Given the description of an element on the screen output the (x, y) to click on. 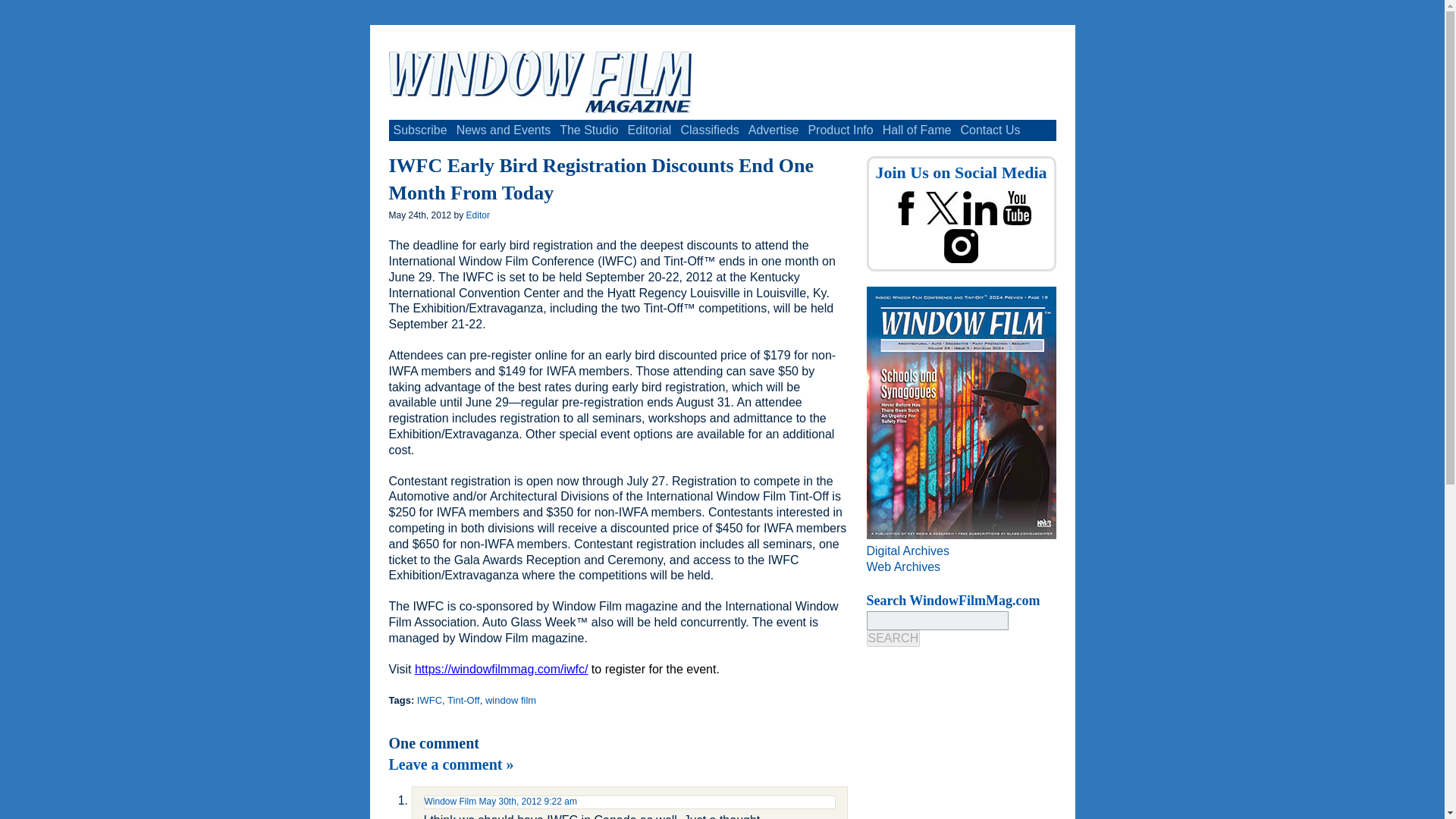
May 30th, 2012 9:22 am (527, 801)
News and Events (503, 129)
Contact Us (990, 129)
Hall of Fame (916, 129)
Subscribe (419, 129)
Tint-Off (463, 699)
Product Info (840, 129)
Editorial (650, 129)
Editor (477, 214)
window film (509, 699)
